Given the description of an element on the screen output the (x, y) to click on. 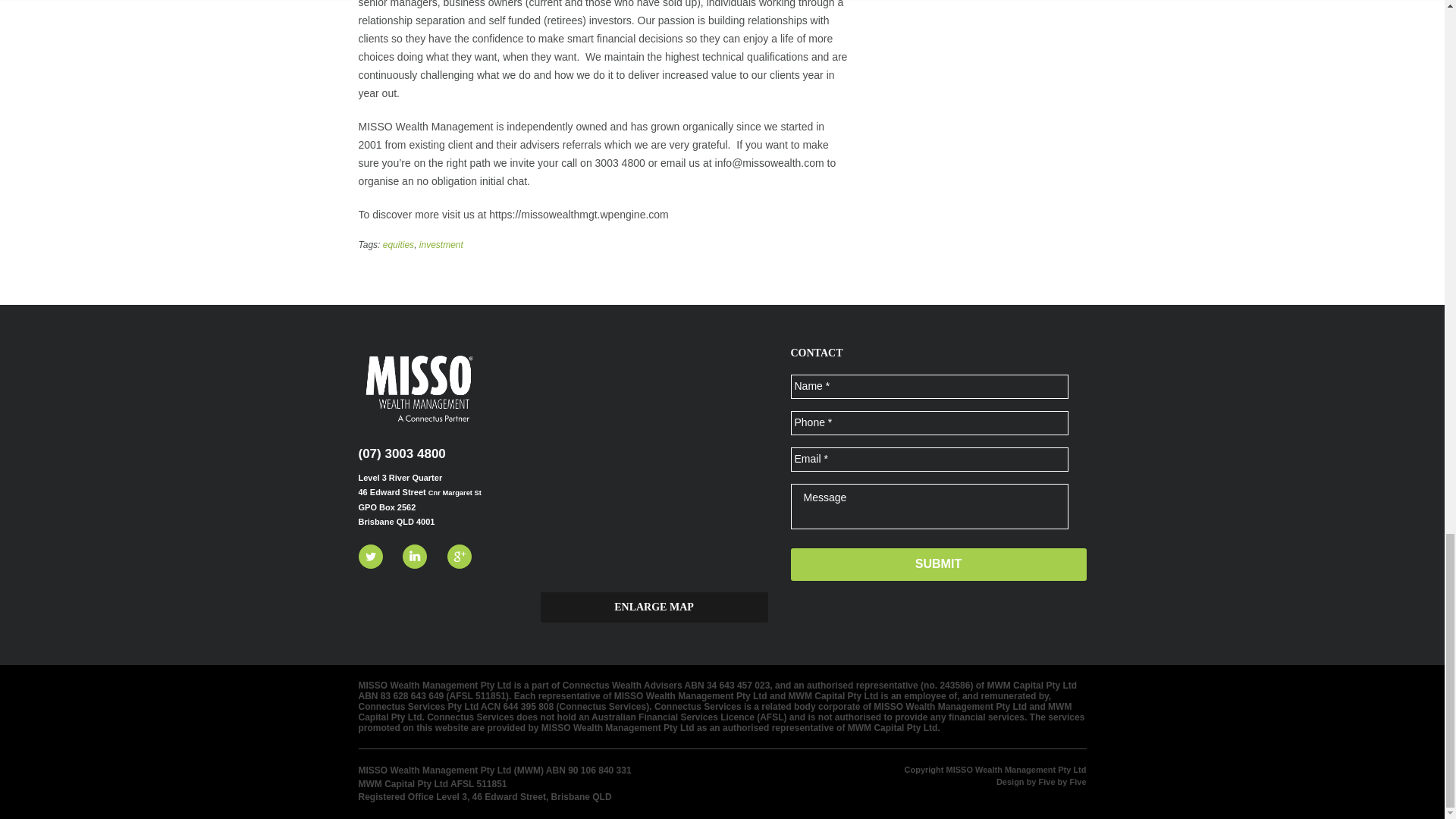
Locate us (653, 607)
Twitter (369, 556)
Linkedin (414, 556)
Submit (938, 563)
Call us Now! (401, 453)
